Given the description of an element on the screen output the (x, y) to click on. 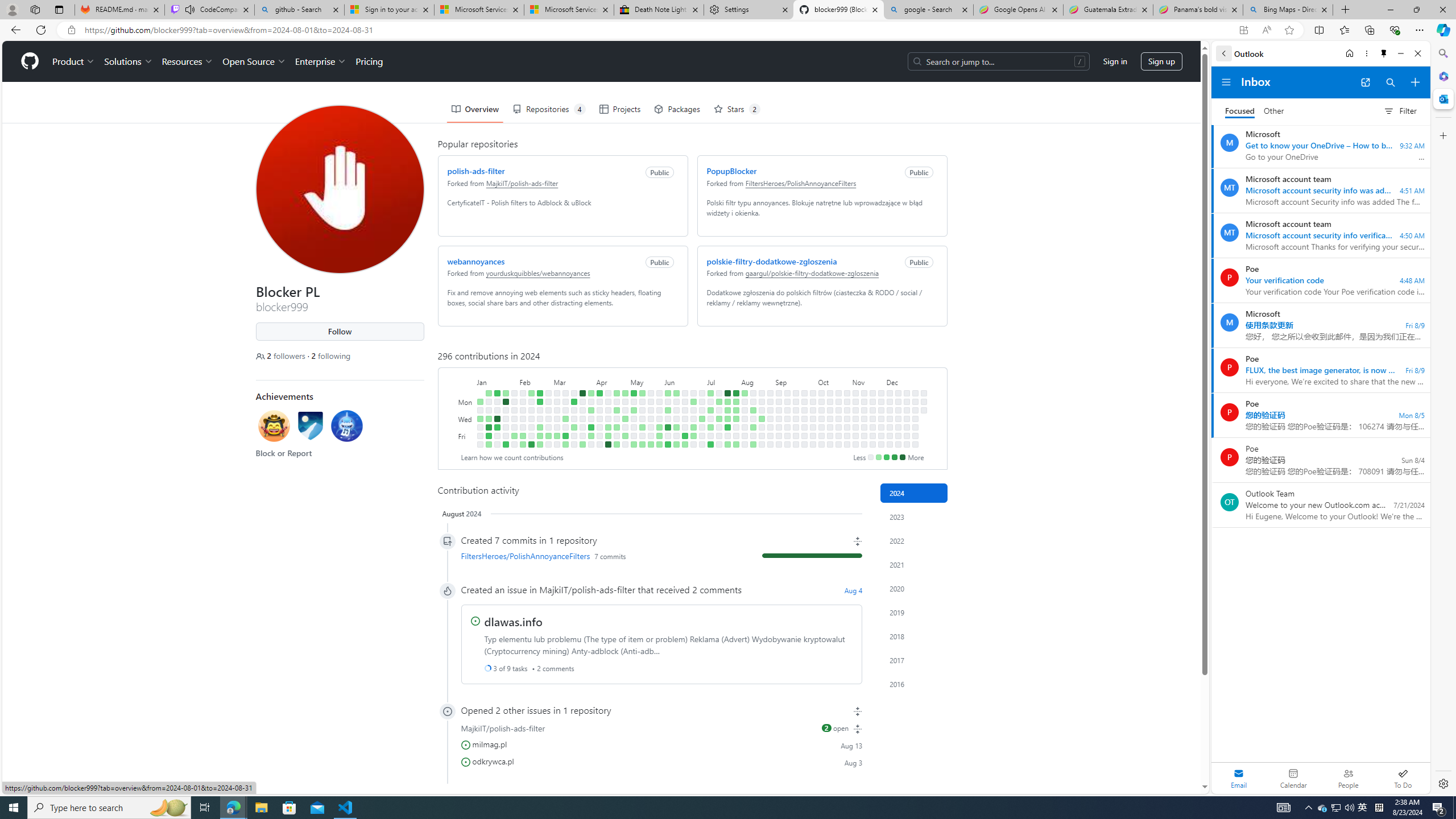
2019 (913, 612)
5 contributions on February 19th. (539, 401)
No contributions on August 20th. (761, 410)
FiltersHeroes/PolishAnnoyanceFilters (524, 555)
No contributions on October 24th. (837, 427)
No contributions on October 17th. (829, 427)
Product (74, 60)
1 contribution on May 25th. (650, 444)
Repositories 4 (548, 108)
No contributions on November 9th. (855, 444)
No contributions on September 3rd. (777, 410)
No contributions on January 8th. (488, 401)
1 contribution on February 9th. (522, 435)
No contributions on October 6th. (821, 392)
No contributions on September 14th. (786, 444)
